Given the description of an element on the screen output the (x, y) to click on. 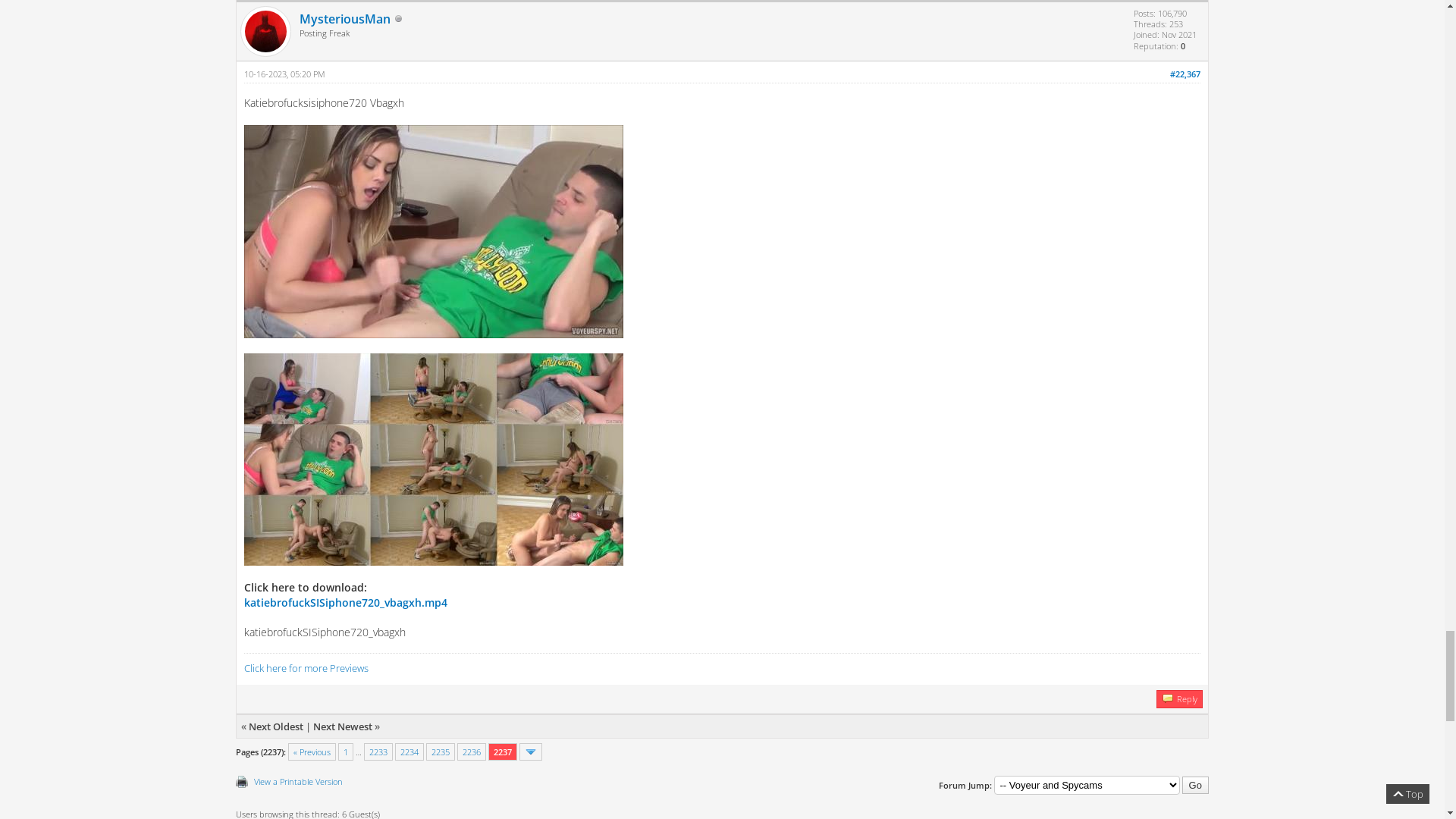
EpicLeaks Element type: text (132, 806)
HOME Element type: text (113, 197)
REPORT CONTENT Element type: text (392, 197)
Amateur Porn Element type: text (188, 806)
Login Element type: text (123, 12)
Voyeur and Spycams Element type: text (267, 806)
HELP Element type: text (314, 197)
MEMBER LIST Element type: text (245, 197)
EpicLeaks Element type: hover (278, 89)
Register Element type: text (190, 12)
SEARCH Element type: text (170, 197)
